Given the description of an element on the screen output the (x, y) to click on. 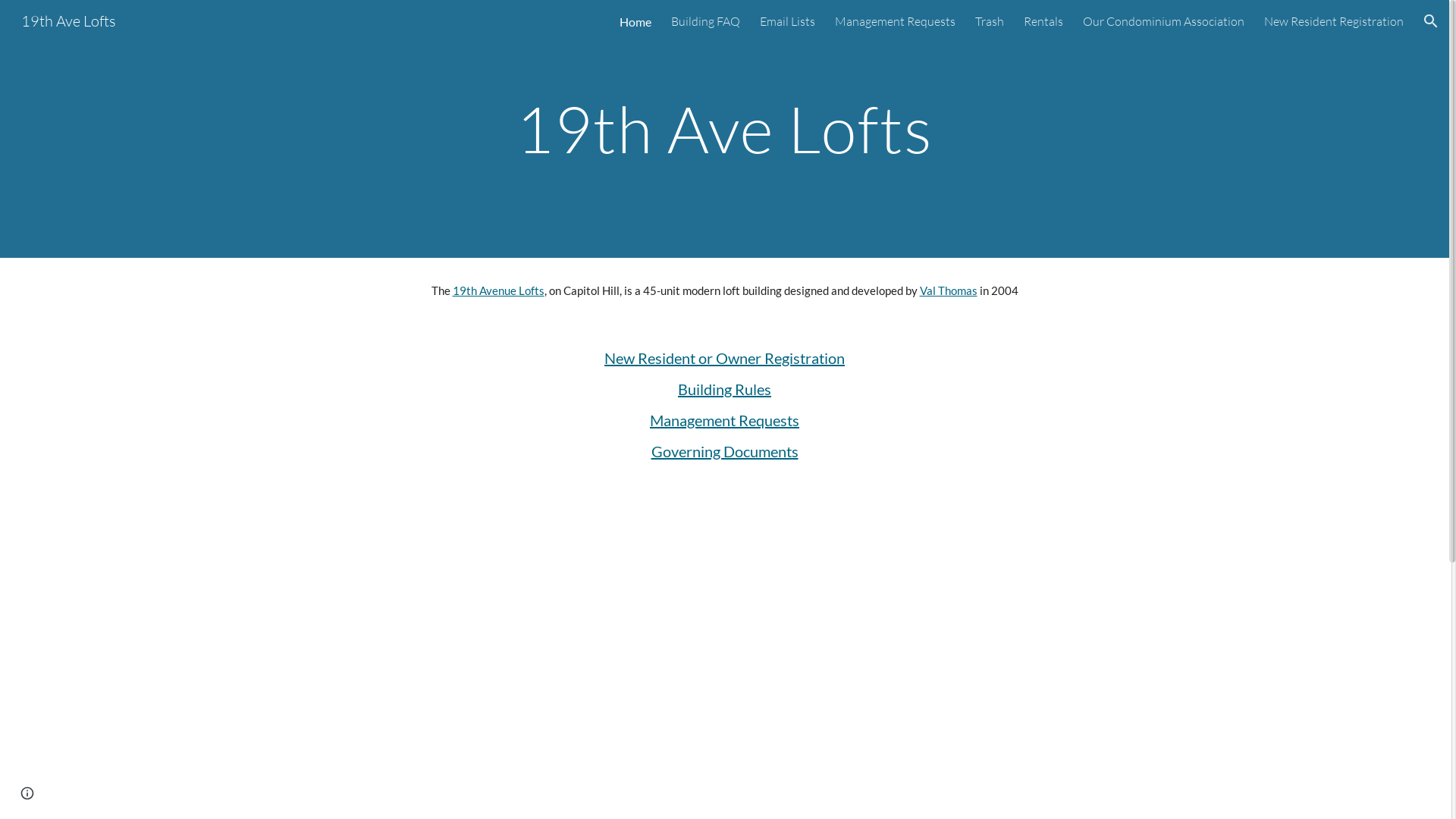
19th Ave Lofts Element type: text (68, 18)
Home Element type: text (635, 20)
Val Thomas Element type: text (947, 290)
Management Requests Element type: text (724, 420)
Email Lists Element type: text (787, 20)
Building FAQ Element type: text (705, 20)
New Resident Registration Element type: text (1333, 20)
19th Avenue Lofts Element type: text (497, 290)
Our Condominium Association Element type: text (1163, 20)
Management Requests Element type: text (894, 20)
Trash Element type: text (989, 20)
Building Rules Element type: text (724, 388)
Rentals Element type: text (1043, 20)
New Resident or Owner Registration Element type: text (724, 357)
Governing Documents Element type: text (723, 451)
